Given the description of an element on the screen output the (x, y) to click on. 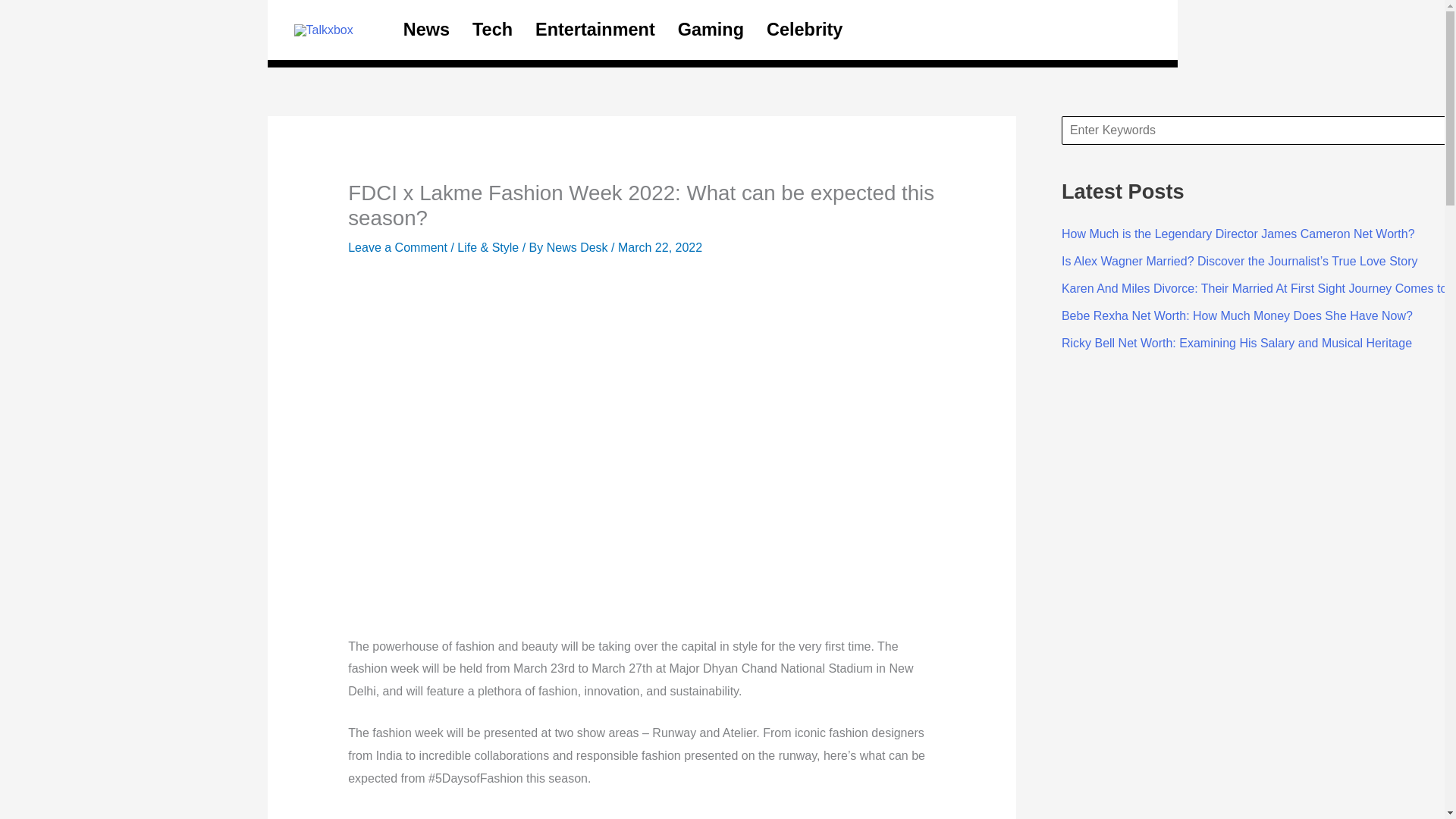
View all posts by News Desk (579, 246)
Celebrity (804, 29)
Tech (492, 29)
Advertisement (640, 814)
News (426, 29)
Gaming (710, 29)
Entertainment (595, 29)
